Given the description of an element on the screen output the (x, y) to click on. 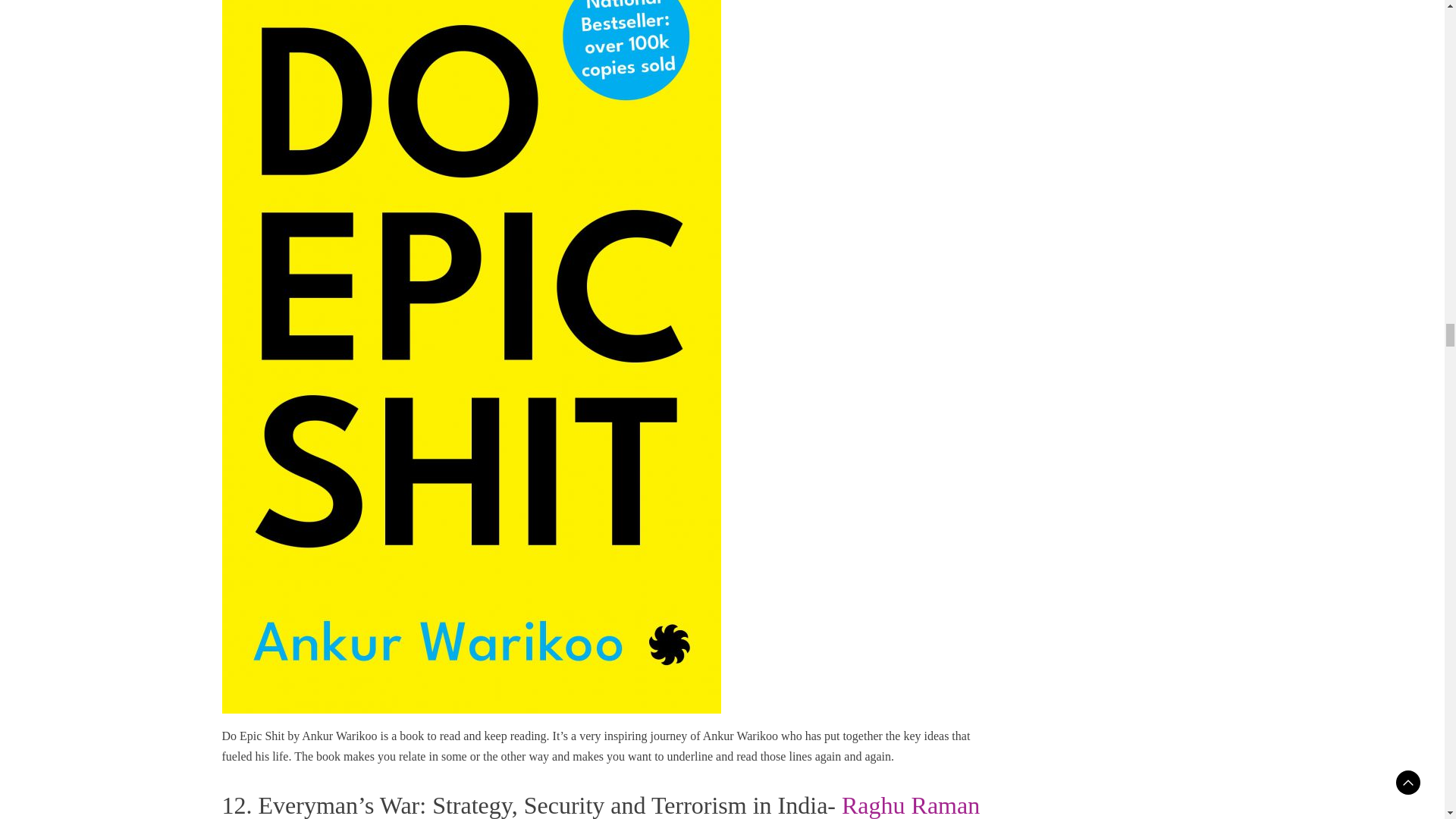
Raghu Raman (910, 805)
